Given the description of an element on the screen output the (x, y) to click on. 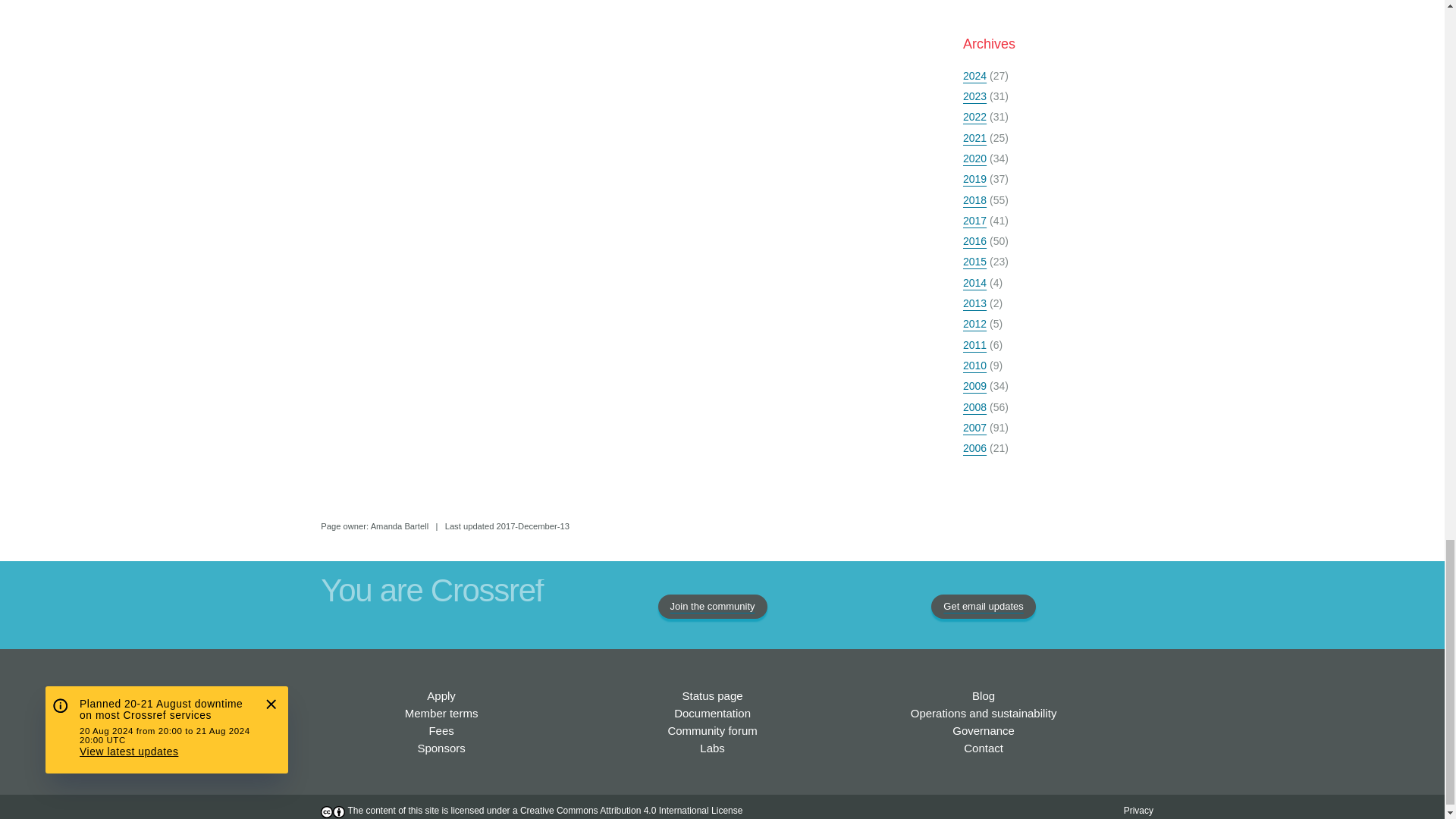
Labs (712, 748)
Become a member (440, 695)
Creative Commons (630, 810)
Membership terms (441, 712)
Documentation (712, 712)
Operations and sustainability (984, 712)
Community forum (711, 730)
Status page (712, 695)
Sponsors (440, 748)
Fees (440, 730)
